Given the description of an element on the screen output the (x, y) to click on. 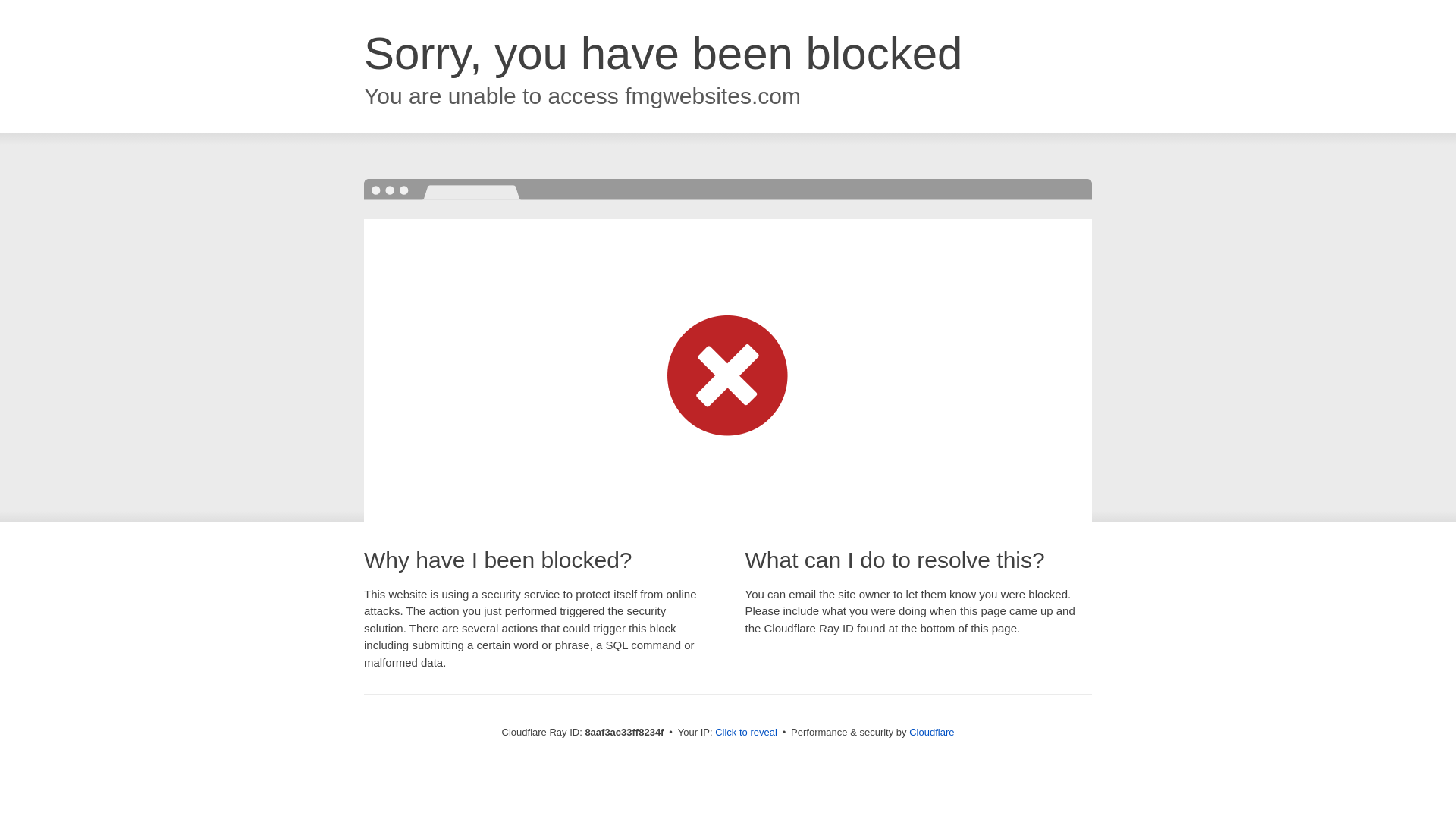
Cloudflare (930, 731)
Click to reveal (745, 732)
